Given the description of an element on the screen output the (x, y) to click on. 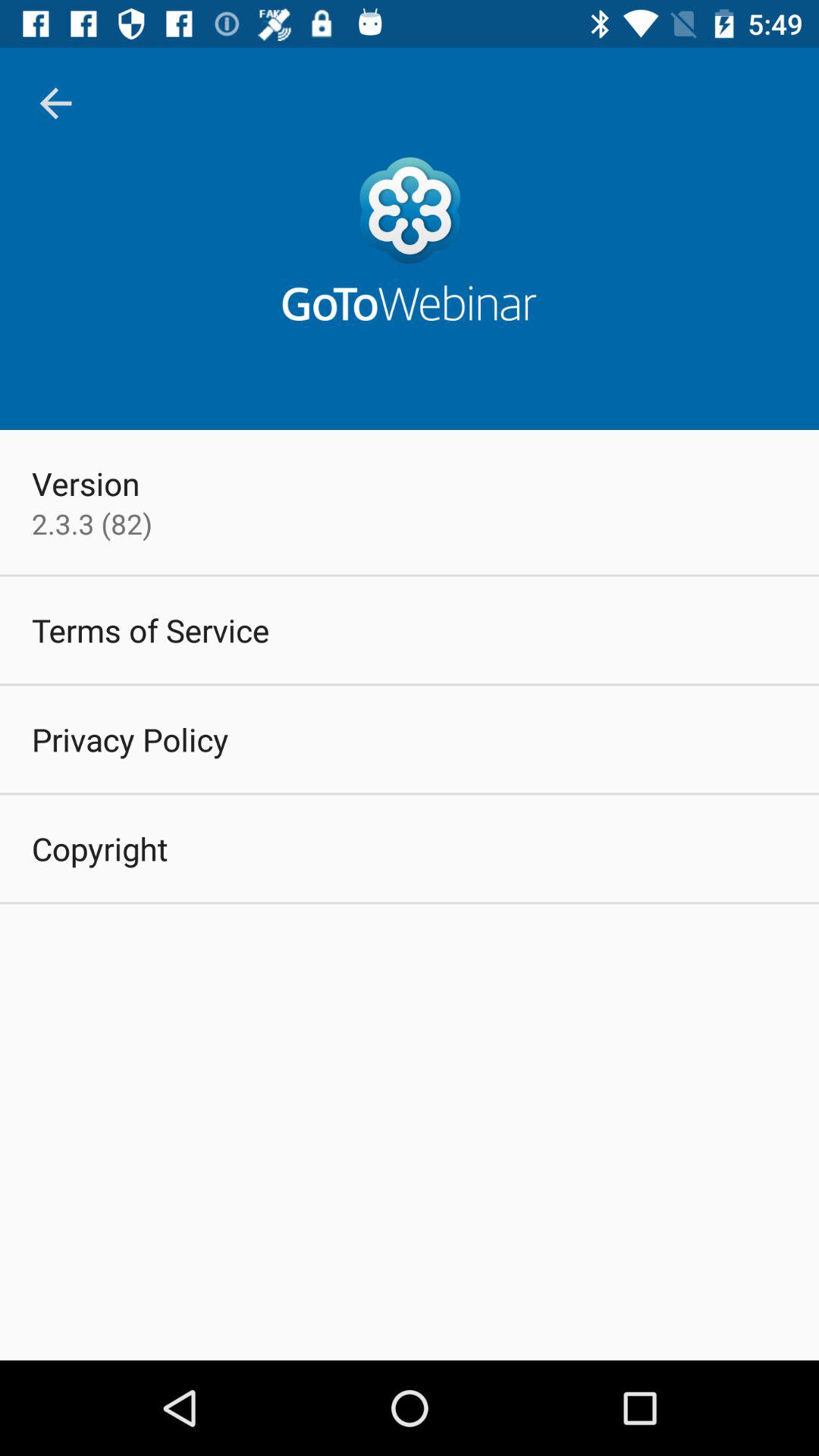
turn off terms of service item (150, 629)
